Given the description of an element on the screen output the (x, y) to click on. 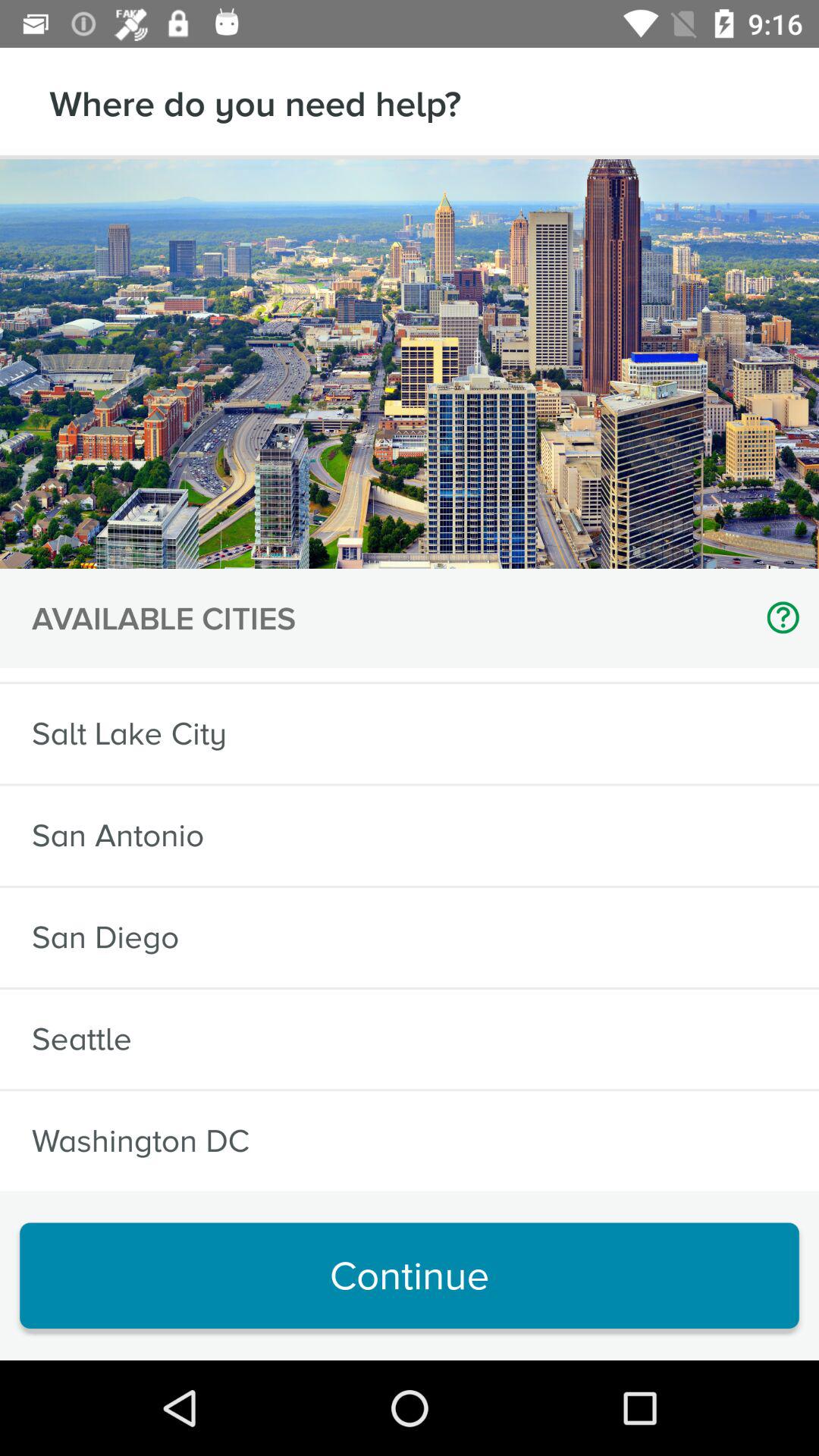
press icon above the seattle icon (105, 937)
